Given the description of an element on the screen output the (x, y) to click on. 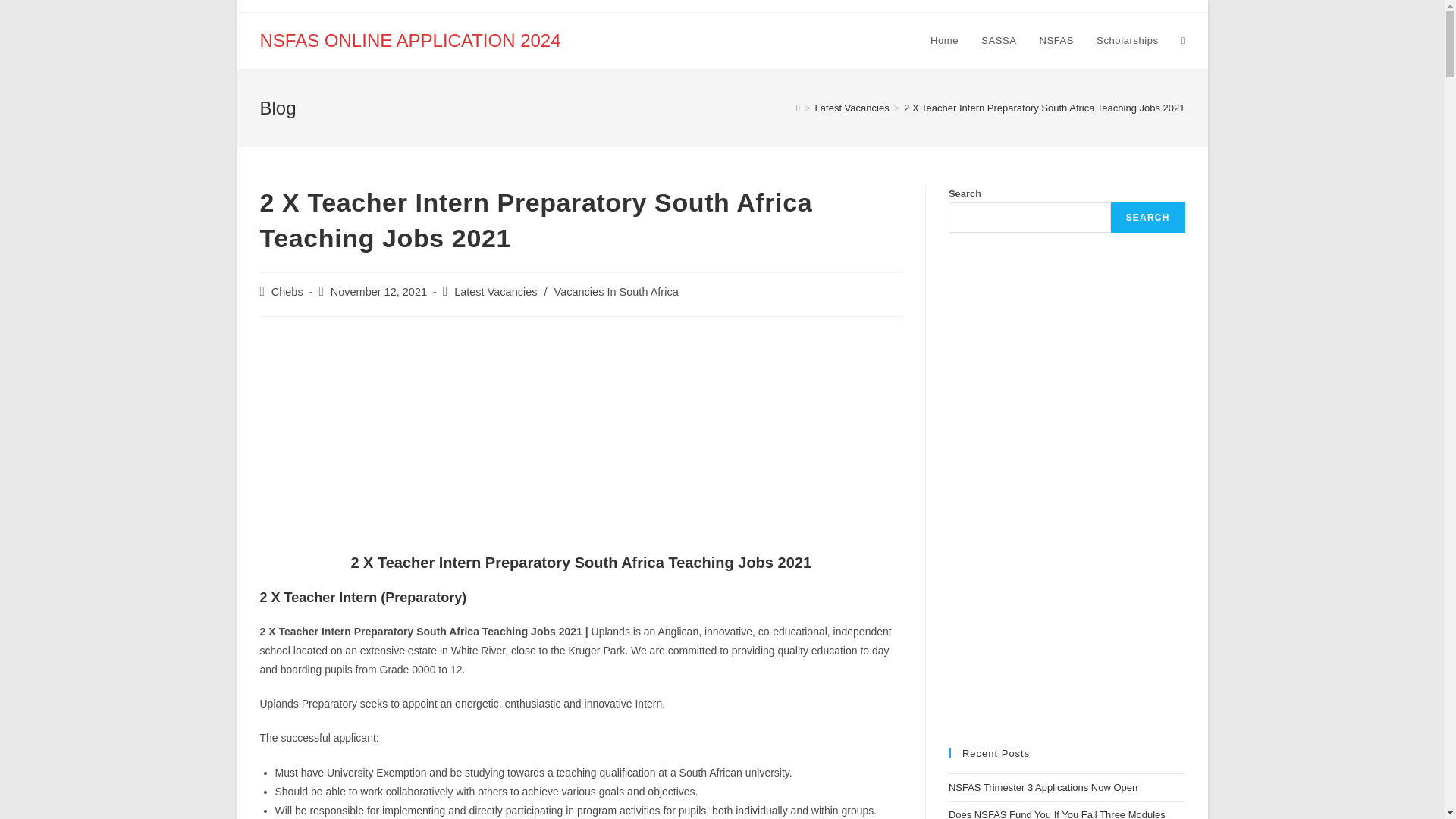
Home (943, 40)
Latest Vacancies (495, 291)
Scholarships (1127, 40)
Vacancies In South Africa (616, 291)
Chebs (286, 291)
Advertisement (579, 438)
Latest Vacancies (852, 107)
NSFAS (1055, 40)
NSFAS ONLINE APPLICATION 2024 (409, 40)
